Given the description of an element on the screen output the (x, y) to click on. 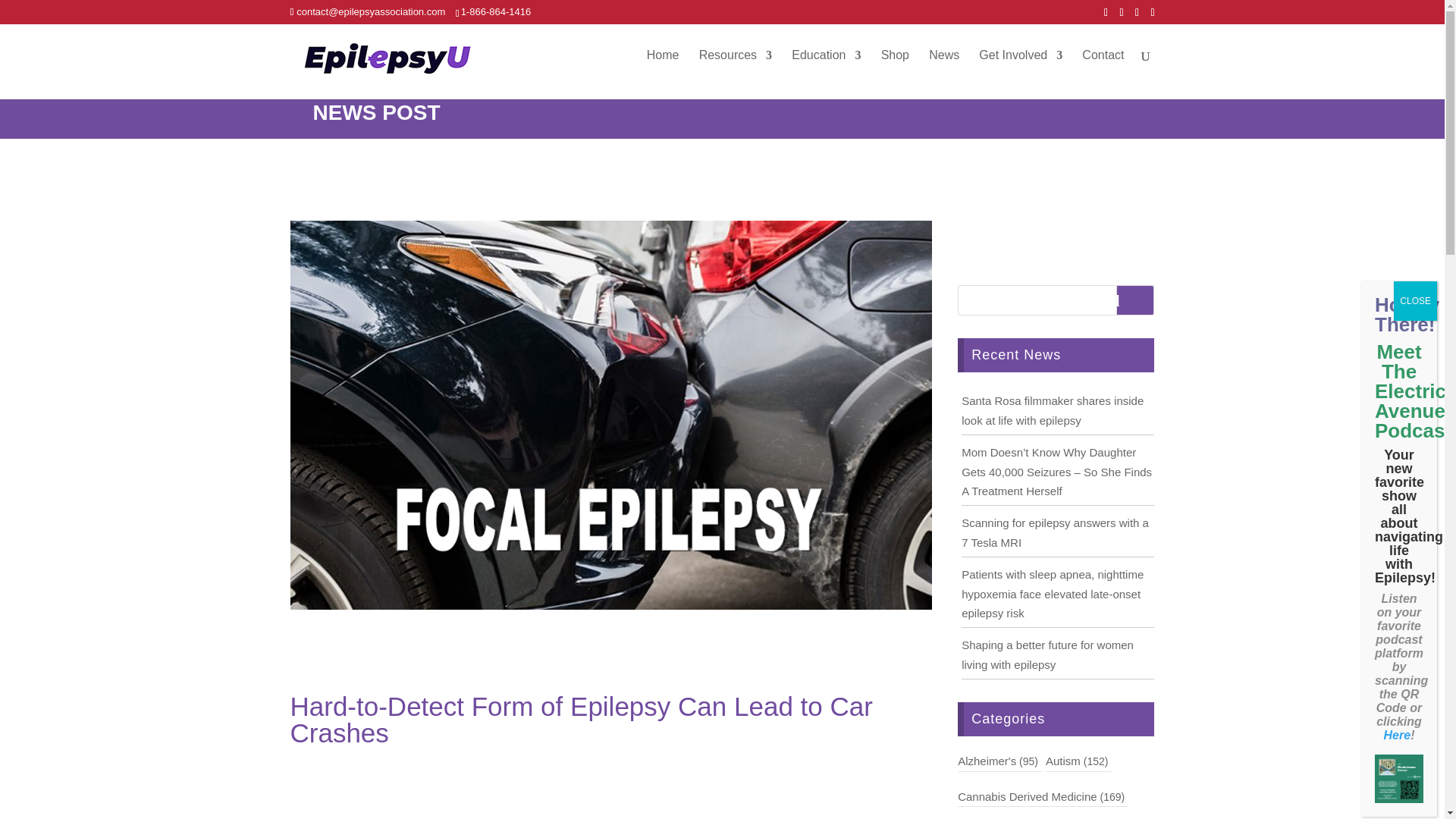
Search (1135, 300)
Education (826, 67)
Resources (734, 67)
Get Involved (1020, 67)
Home (662, 67)
